Given the description of an element on the screen output the (x, y) to click on. 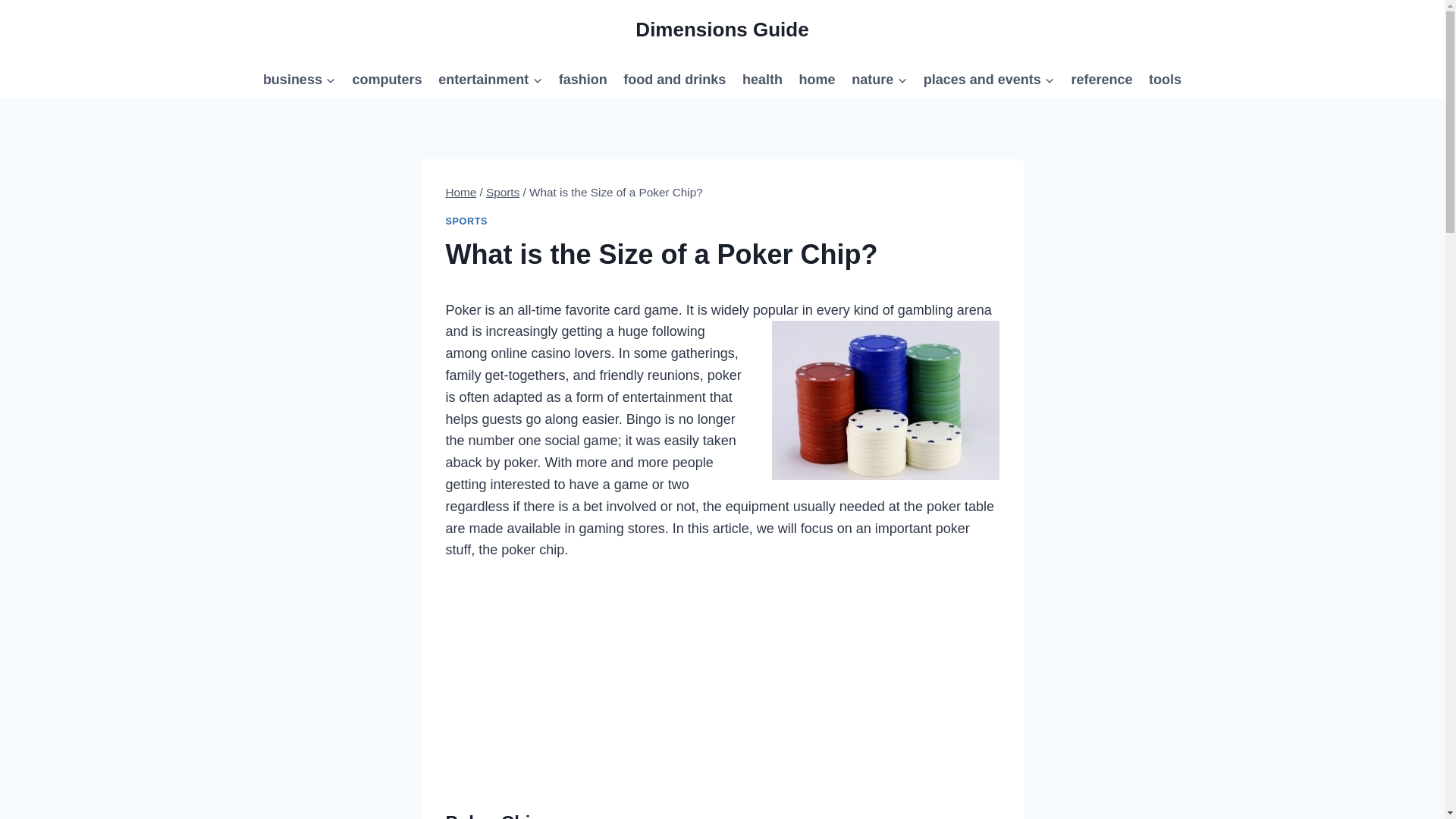
health (761, 79)
home (817, 79)
SPORTS (466, 221)
reference (1101, 79)
tools (1164, 79)
entertainment (489, 79)
fashion (582, 79)
Dimensions Guide (721, 29)
food and drinks (675, 79)
business (298, 79)
